Given the description of an element on the screen output the (x, y) to click on. 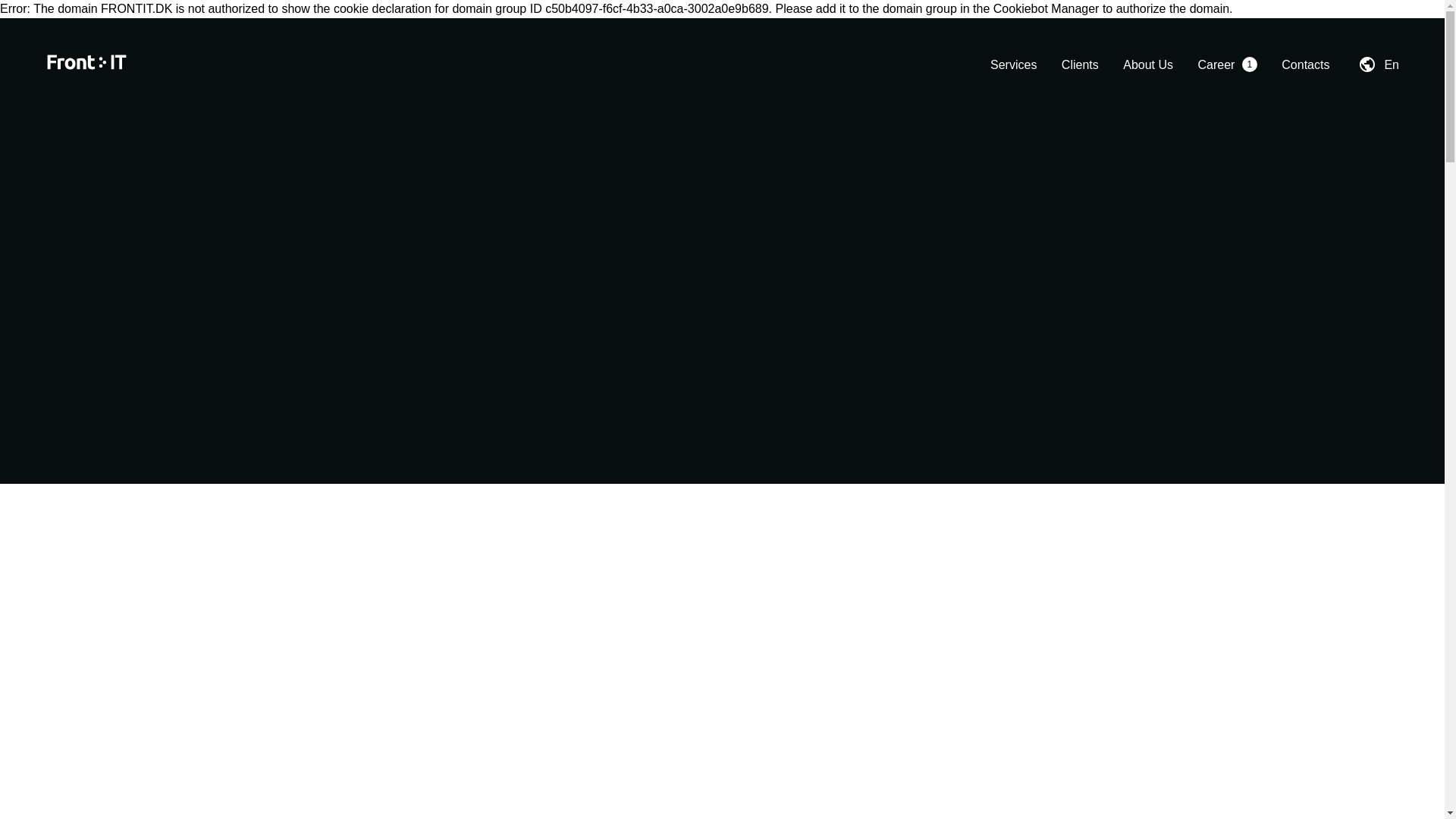
About Us (1147, 63)
PHP (1029, 804)
Career (1215, 63)
Services (1013, 63)
Contacts (1305, 63)
Clients (1080, 63)
